Given the description of an element on the screen output the (x, y) to click on. 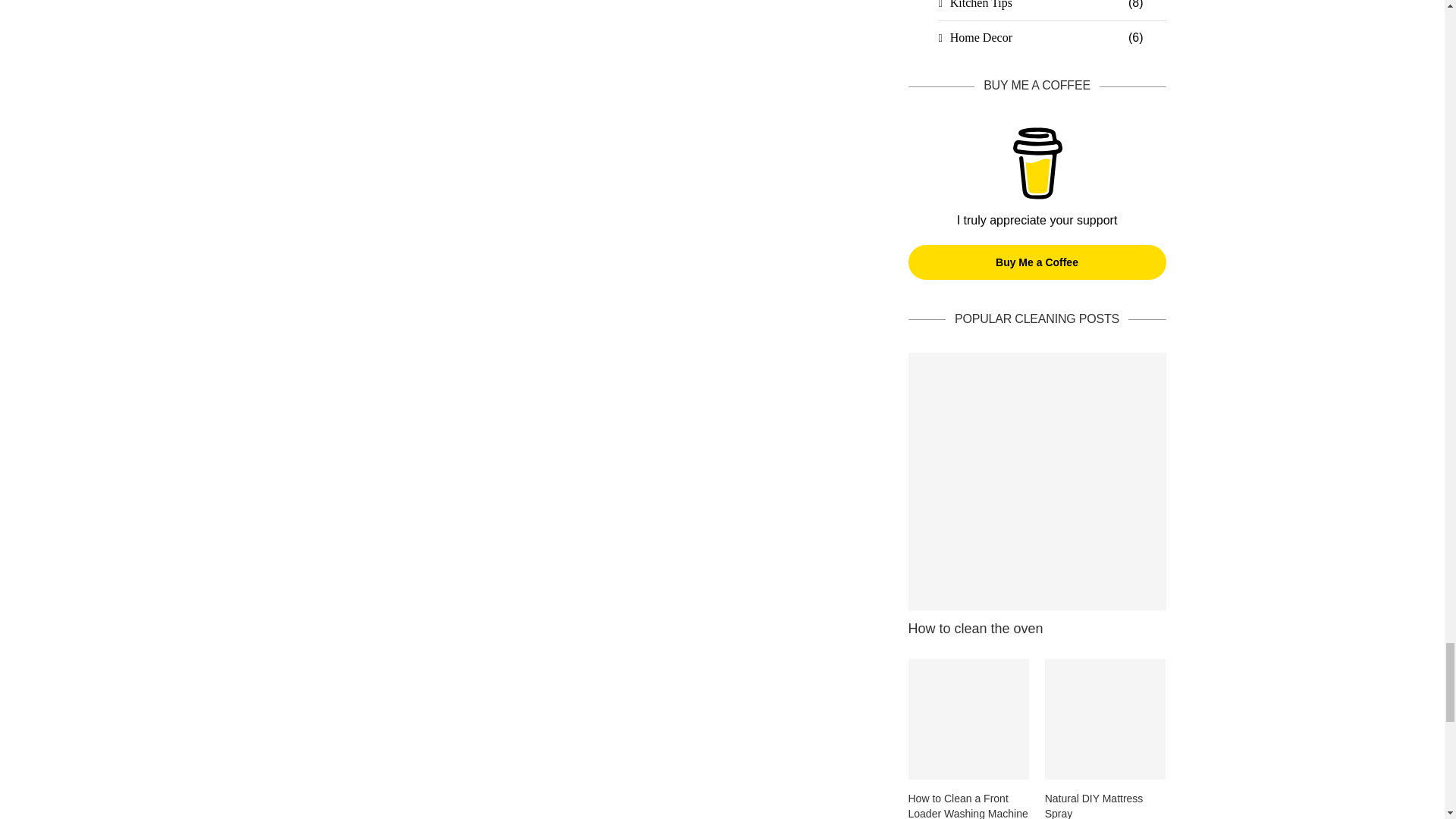
Buy Me a Coffee (1037, 163)
